Given the description of an element on the screen output the (x, y) to click on. 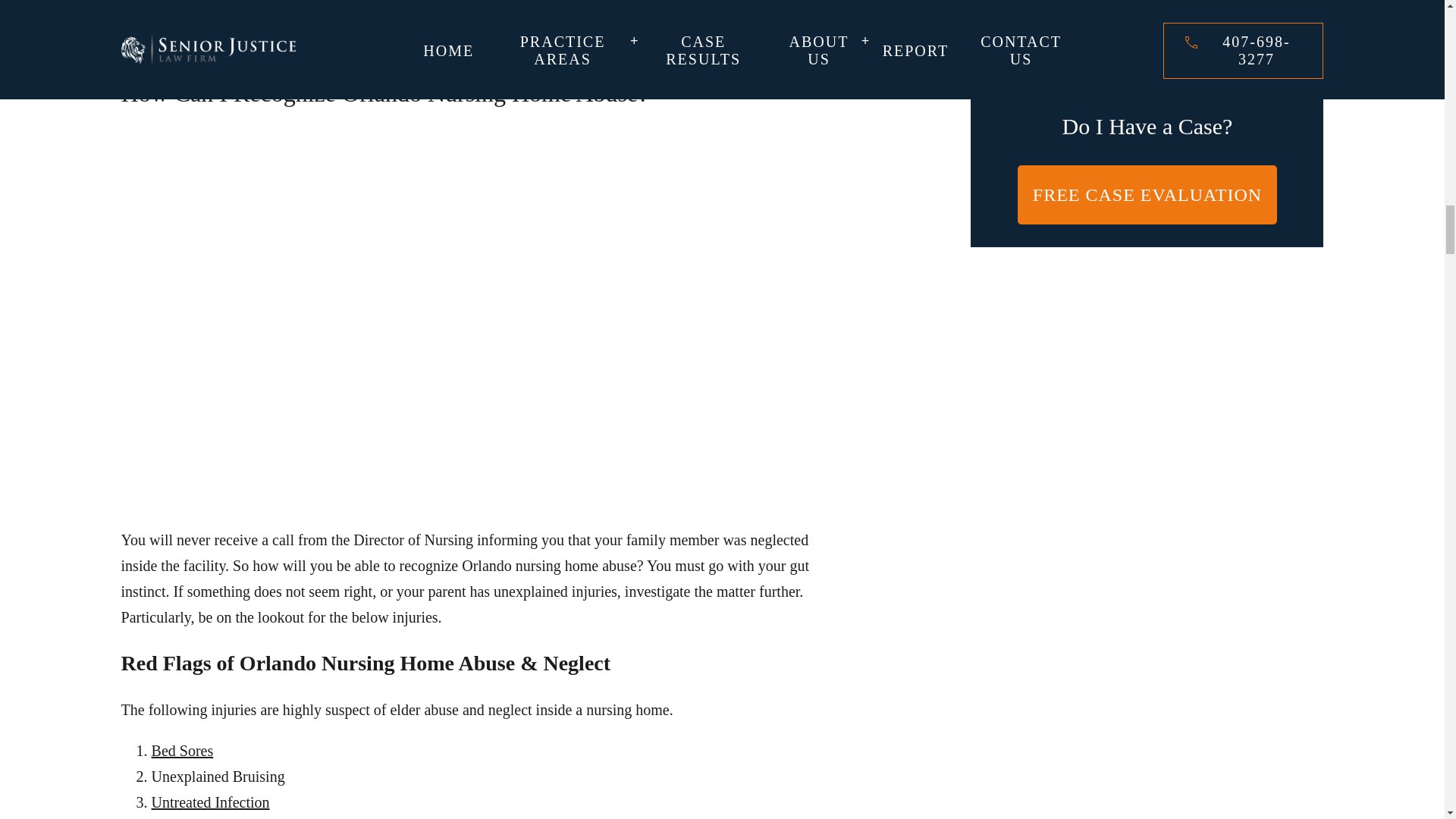
Bed Sores (182, 750)
Untreated Infection (210, 801)
